Given the description of an element on the screen output the (x, y) to click on. 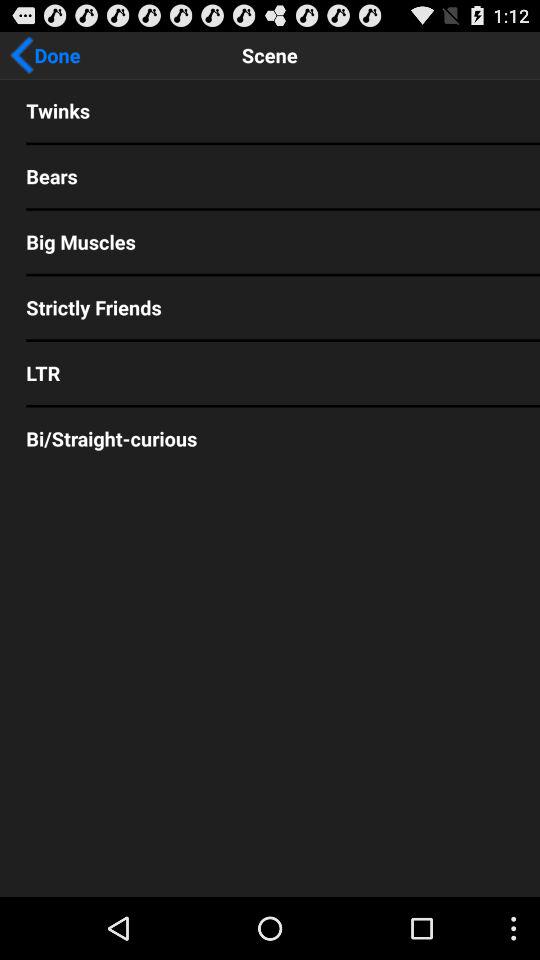
jump until twinks app (270, 110)
